Given the description of an element on the screen output the (x, y) to click on. 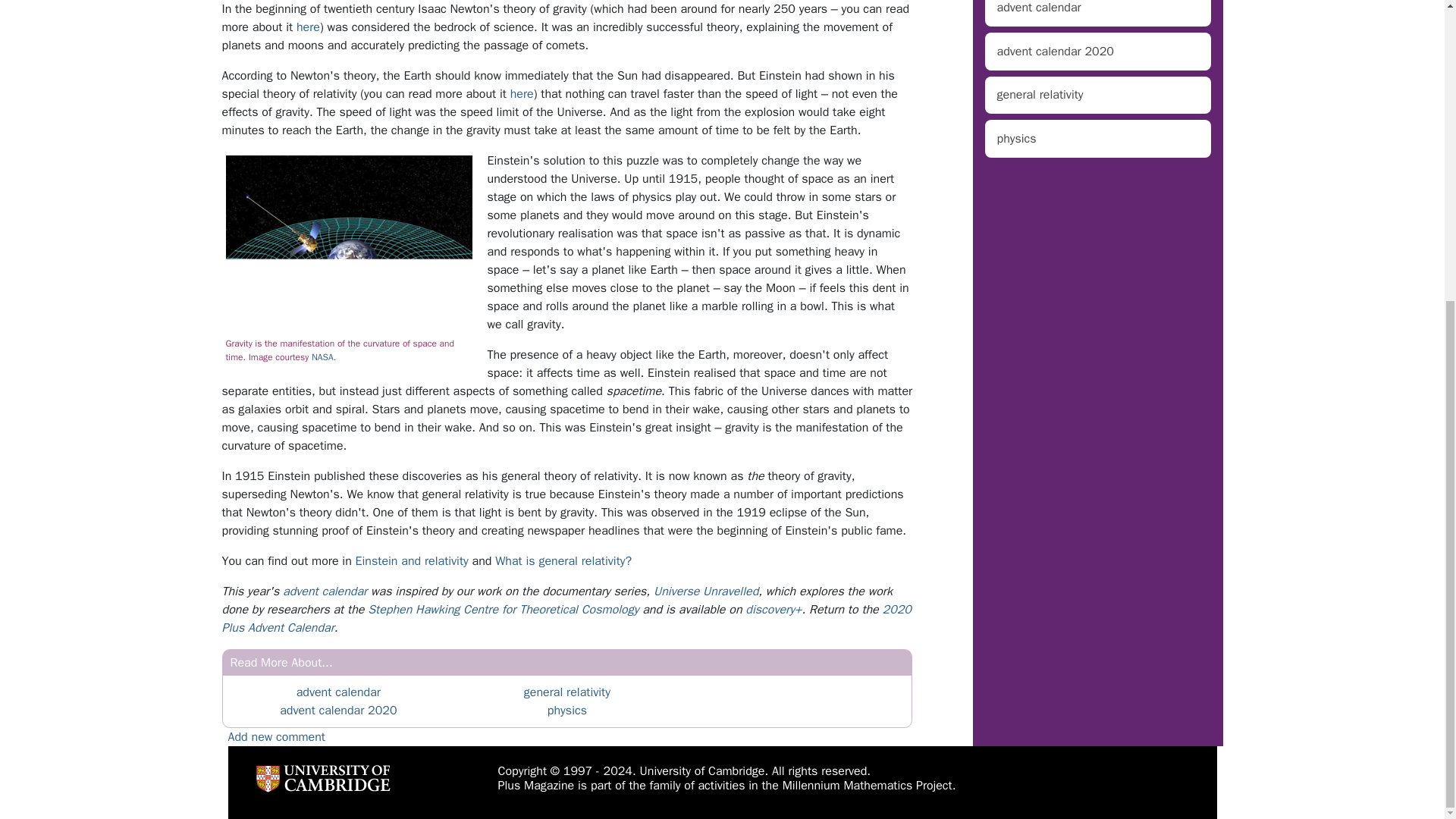
Share your thoughts and opinions. (275, 736)
here (308, 27)
Stephen Hawking Centre for Theoretical Cosmology (503, 609)
Universe Unravelled (705, 590)
advent calendar (324, 590)
Einstein and relativity (411, 560)
advent calendar (338, 692)
general relativity (567, 692)
NASA (322, 357)
What is general relativity? (563, 560)
here (522, 93)
2020 Plus Advent Calendar (566, 618)
advent calendar 2020 (337, 710)
